Given the description of an element on the screen output the (x, y) to click on. 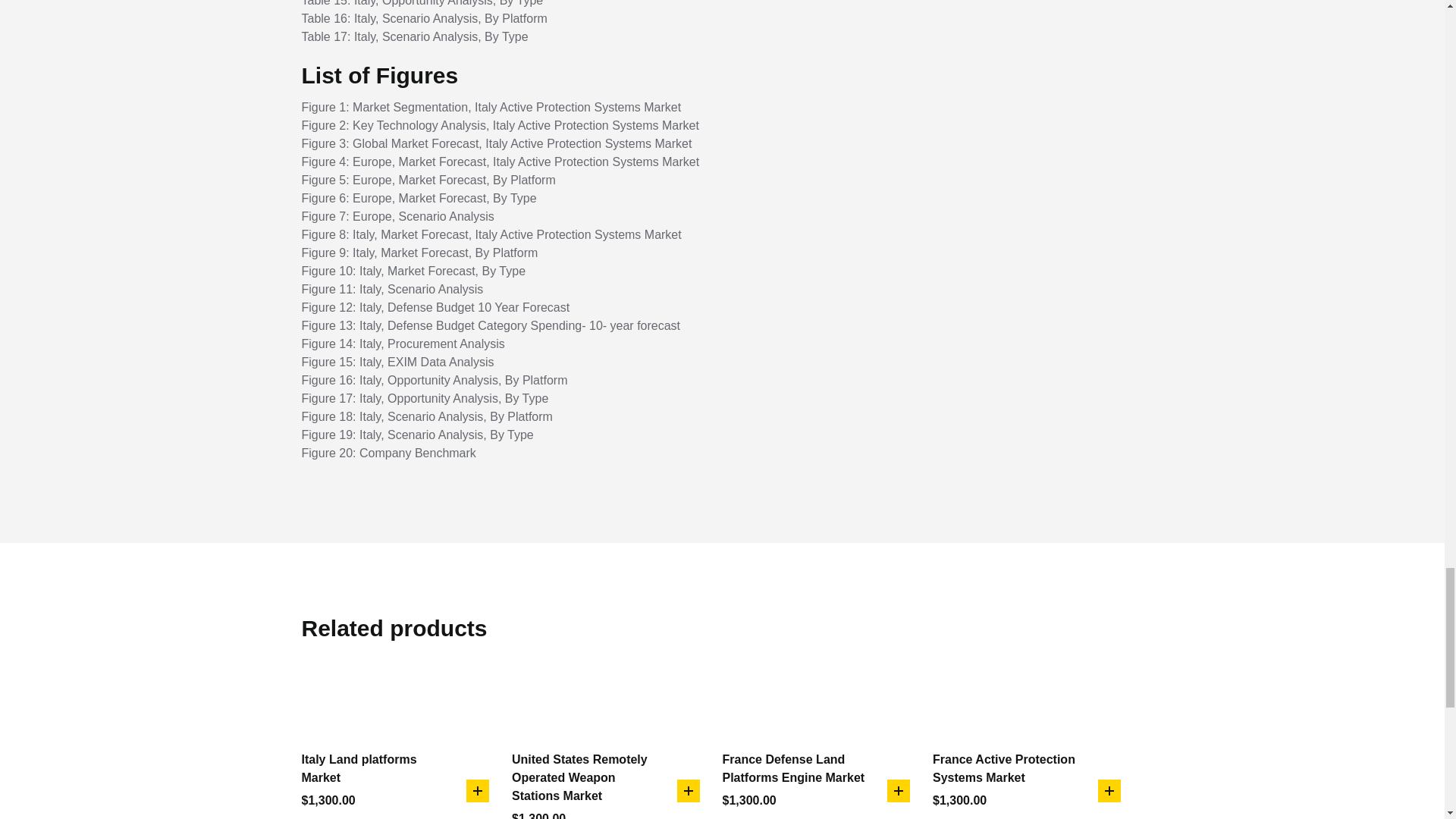
add to cart (477, 790)
add to cart (687, 790)
add to cart (898, 790)
add to cart (1109, 790)
